Given the description of an element on the screen output the (x, y) to click on. 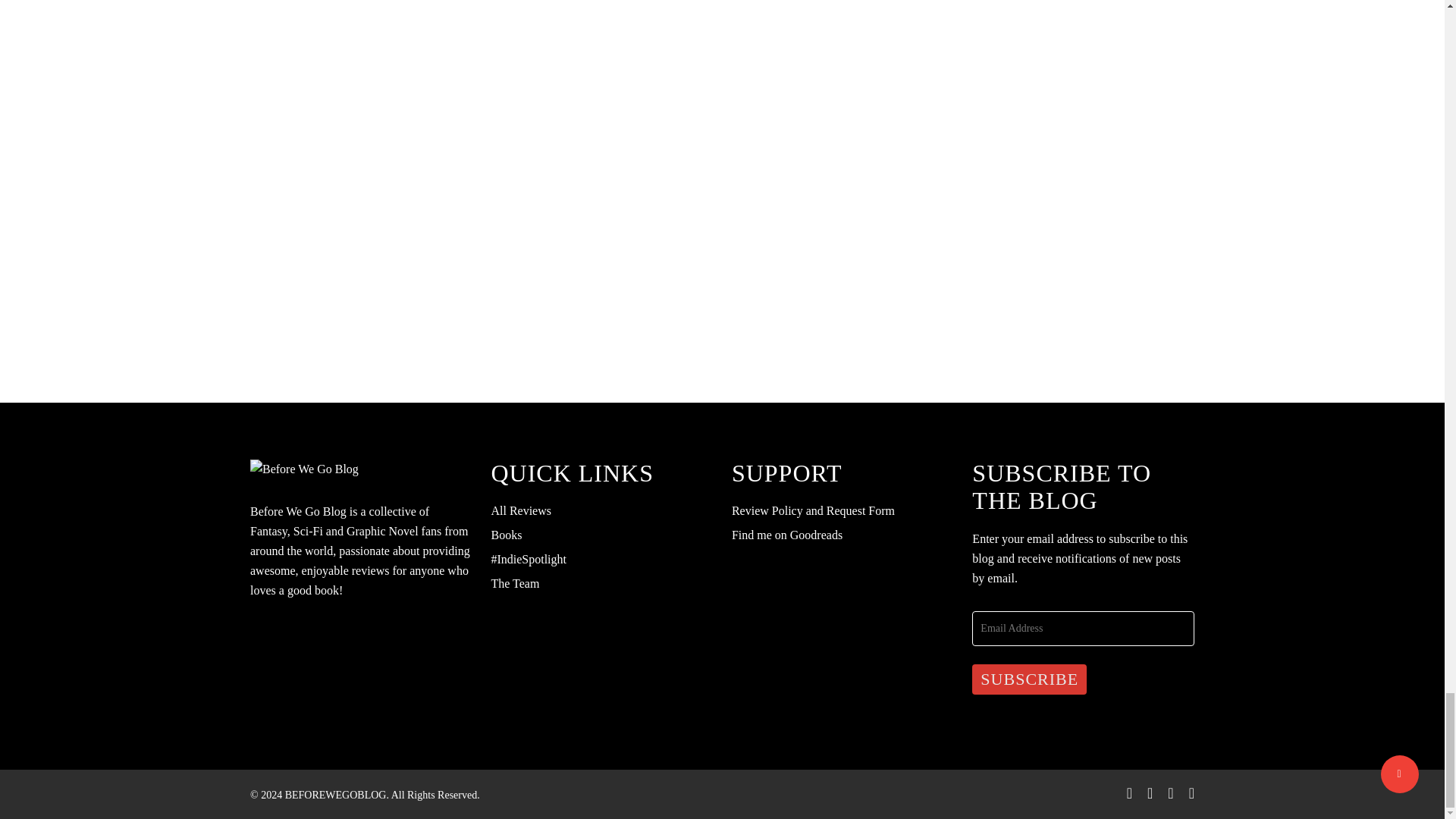
Subscribe (1029, 679)
